Given the description of an element on the screen output the (x, y) to click on. 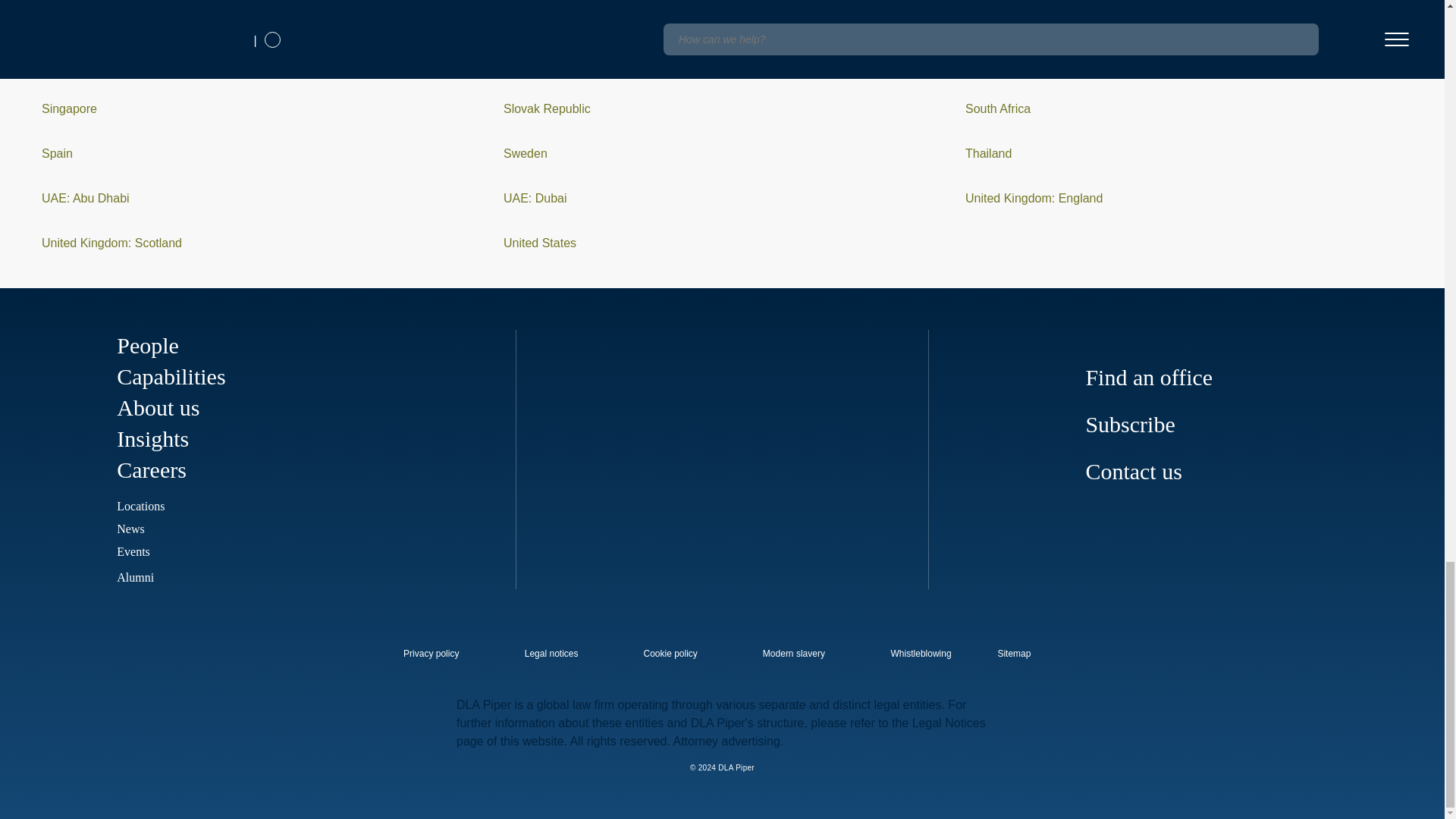
internal (920, 653)
external (1024, 649)
internal (670, 653)
internal (549, 653)
internal (430, 653)
internal (793, 653)
